Given the description of an element on the screen output the (x, y) to click on. 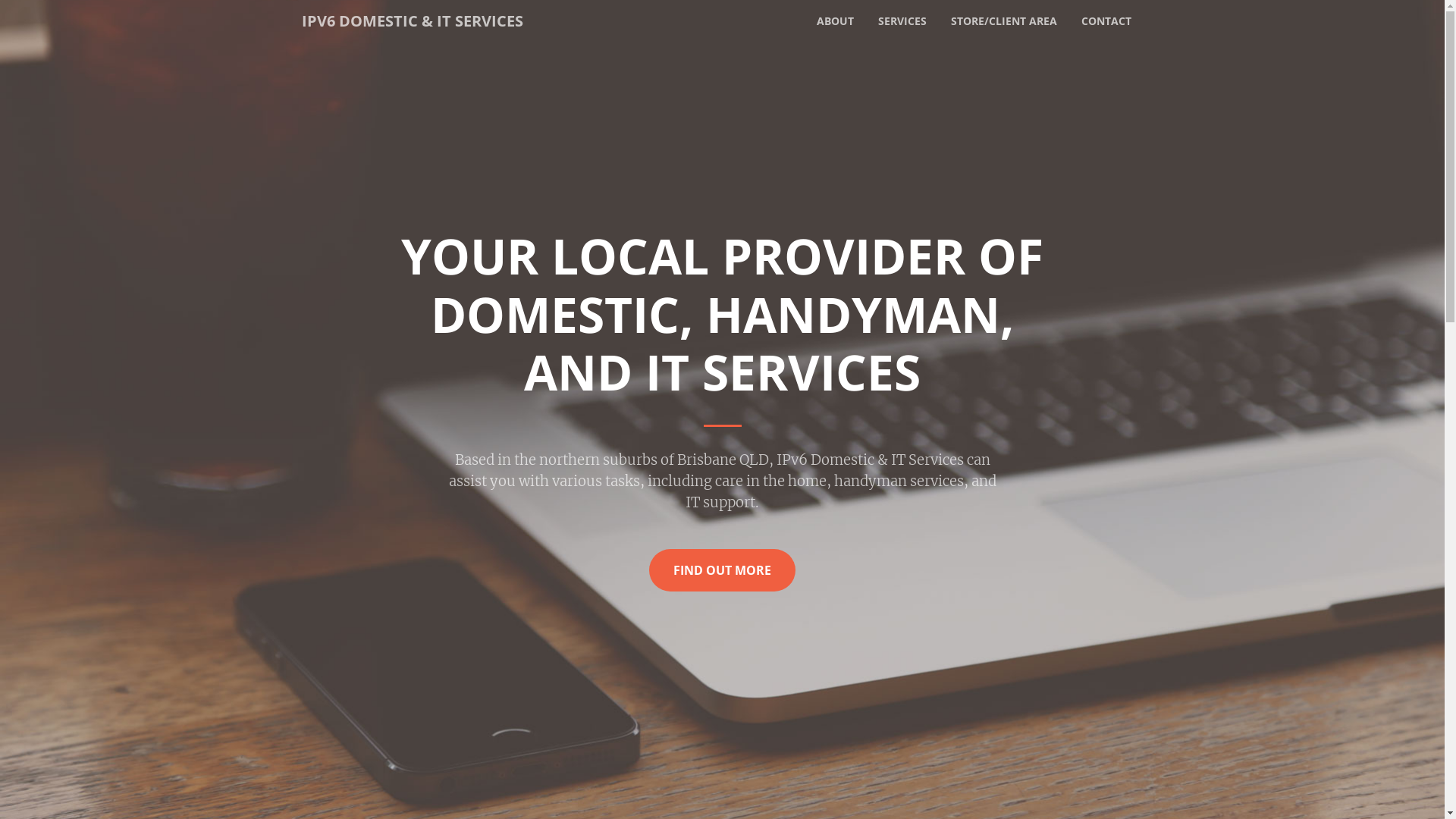
IPV6 DOMESTIC & IT SERVICES Element type: text (412, 21)
ABOUT Element type: text (834, 20)
CONTACT Element type: text (1106, 20)
STORE/CLIENT AREA Element type: text (1003, 20)
FIND OUT MORE Element type: text (722, 570)
SERVICES Element type: text (902, 20)
